Given the description of an element on the screen output the (x, y) to click on. 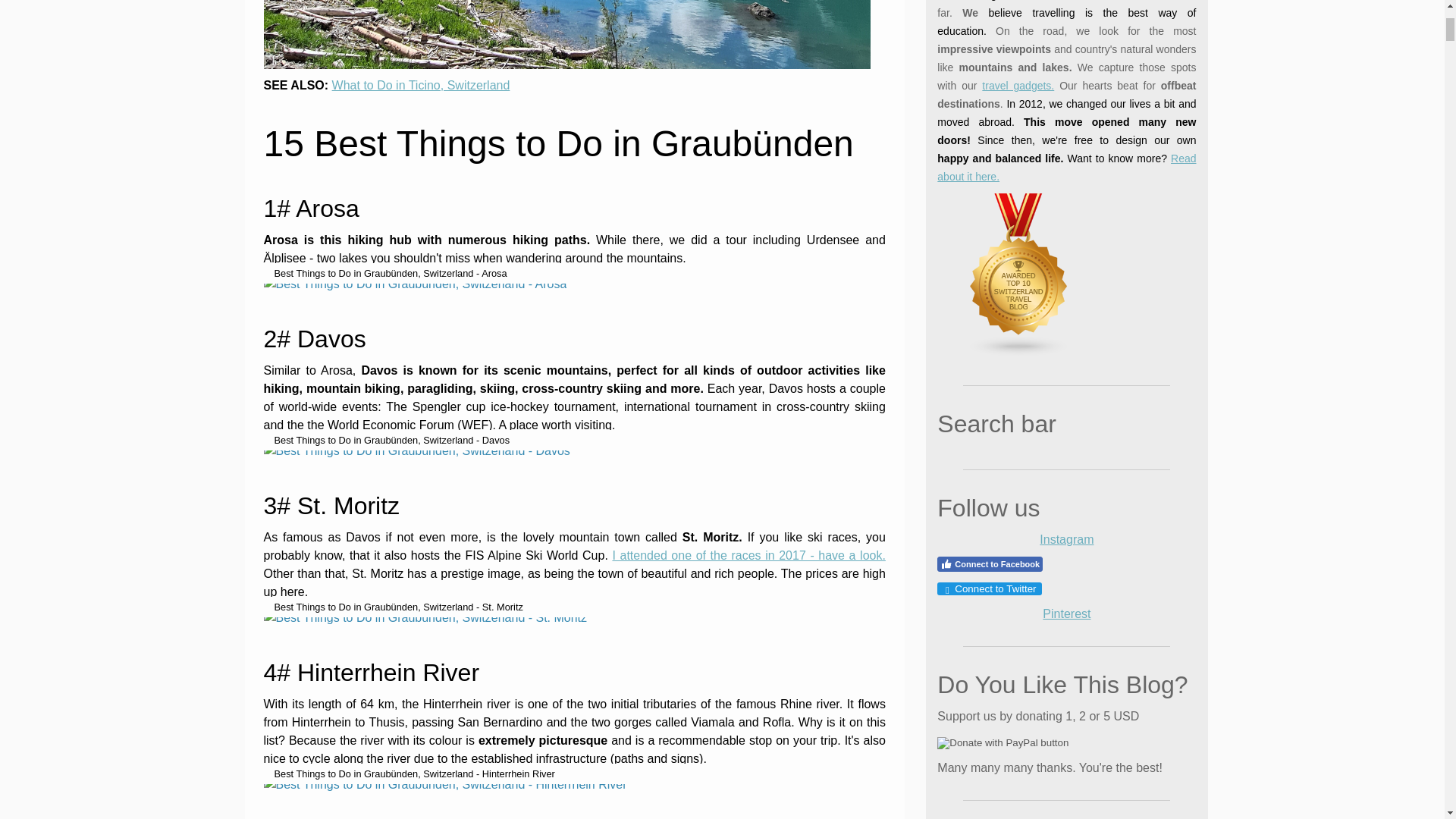
Switzerland Travel Blogs (1009, 75)
A Day at the Ski World Cup in St. Moritz, Switzerland (748, 42)
About us (1066, 41)
PayPal - The safer, easier way to pay online! (1002, 466)
